Given the description of an element on the screen output the (x, y) to click on. 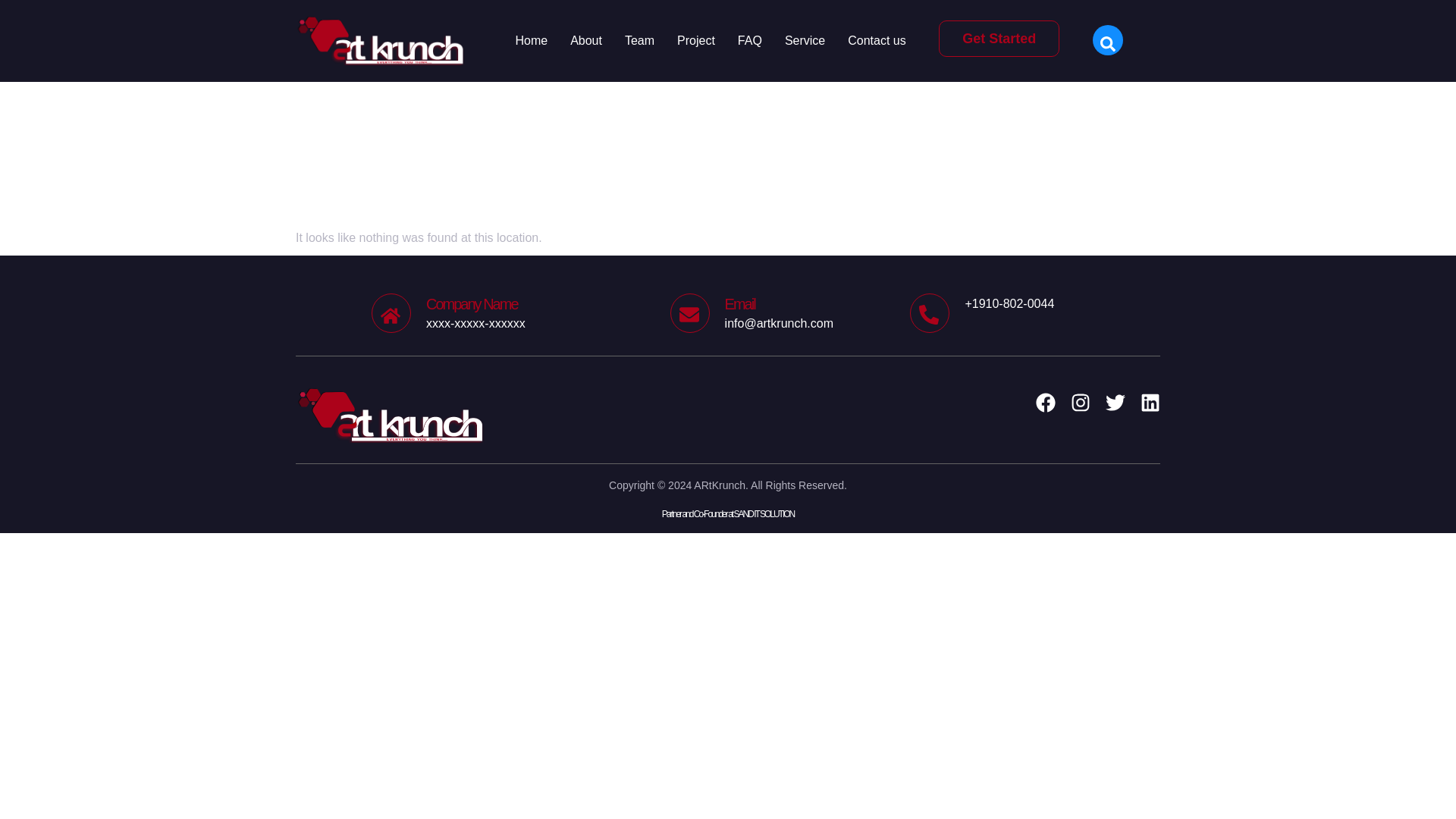
About (574, 40)
Contact us (520, 312)
Team (865, 40)
Partner and Co-Founder at SAND IT SOLUTION (627, 40)
Home (728, 513)
Service (519, 40)
Get Started (793, 40)
FAQ (999, 38)
Project (737, 40)
